Given the description of an element on the screen output the (x, y) to click on. 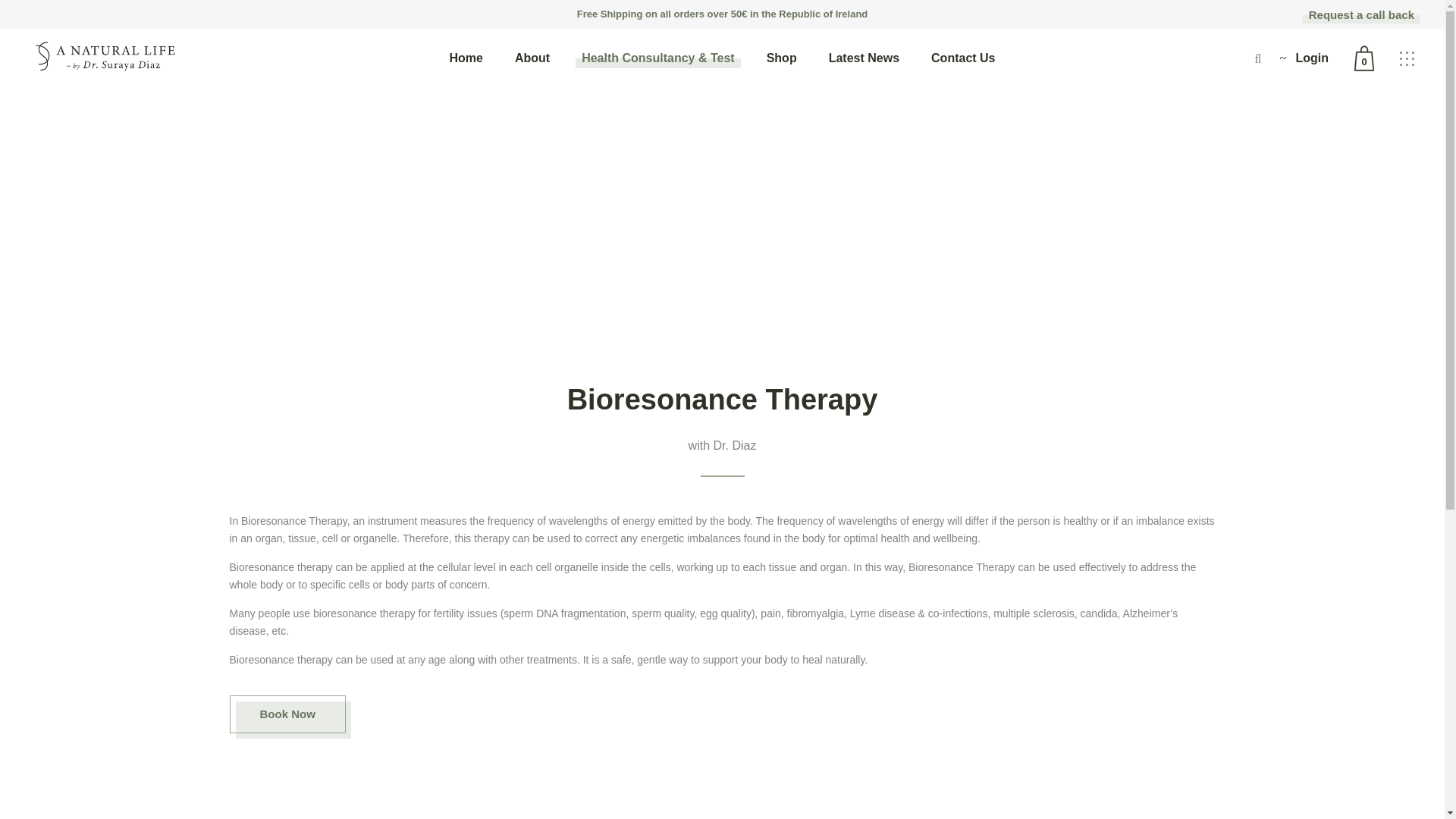
Request a call back (1360, 15)
